Given the description of an element on the screen output the (x, y) to click on. 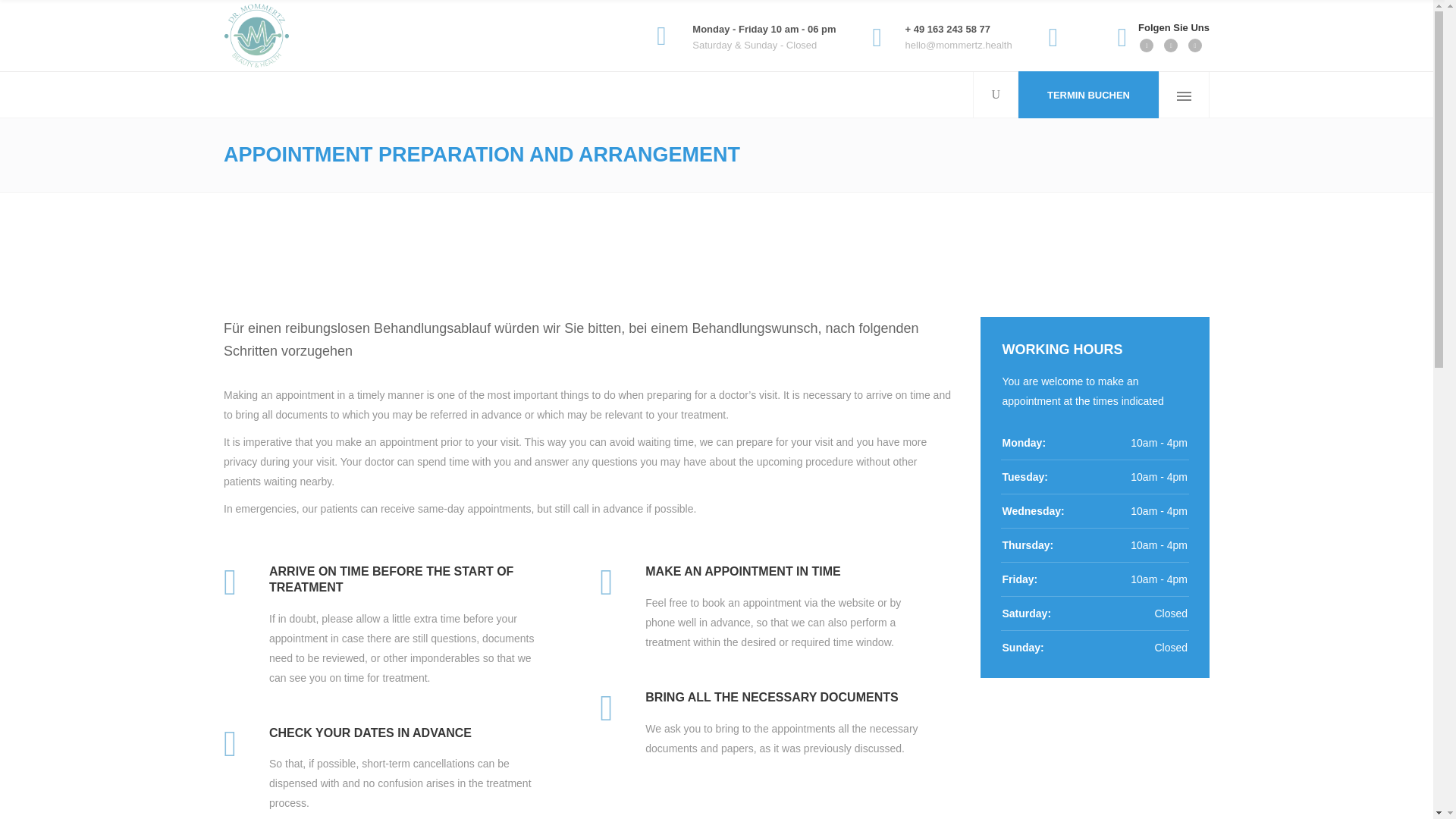
TERMIN BUCHEN (1087, 94)
Search (968, 142)
Search (1121, 25)
